Given the description of an element on the screen output the (x, y) to click on. 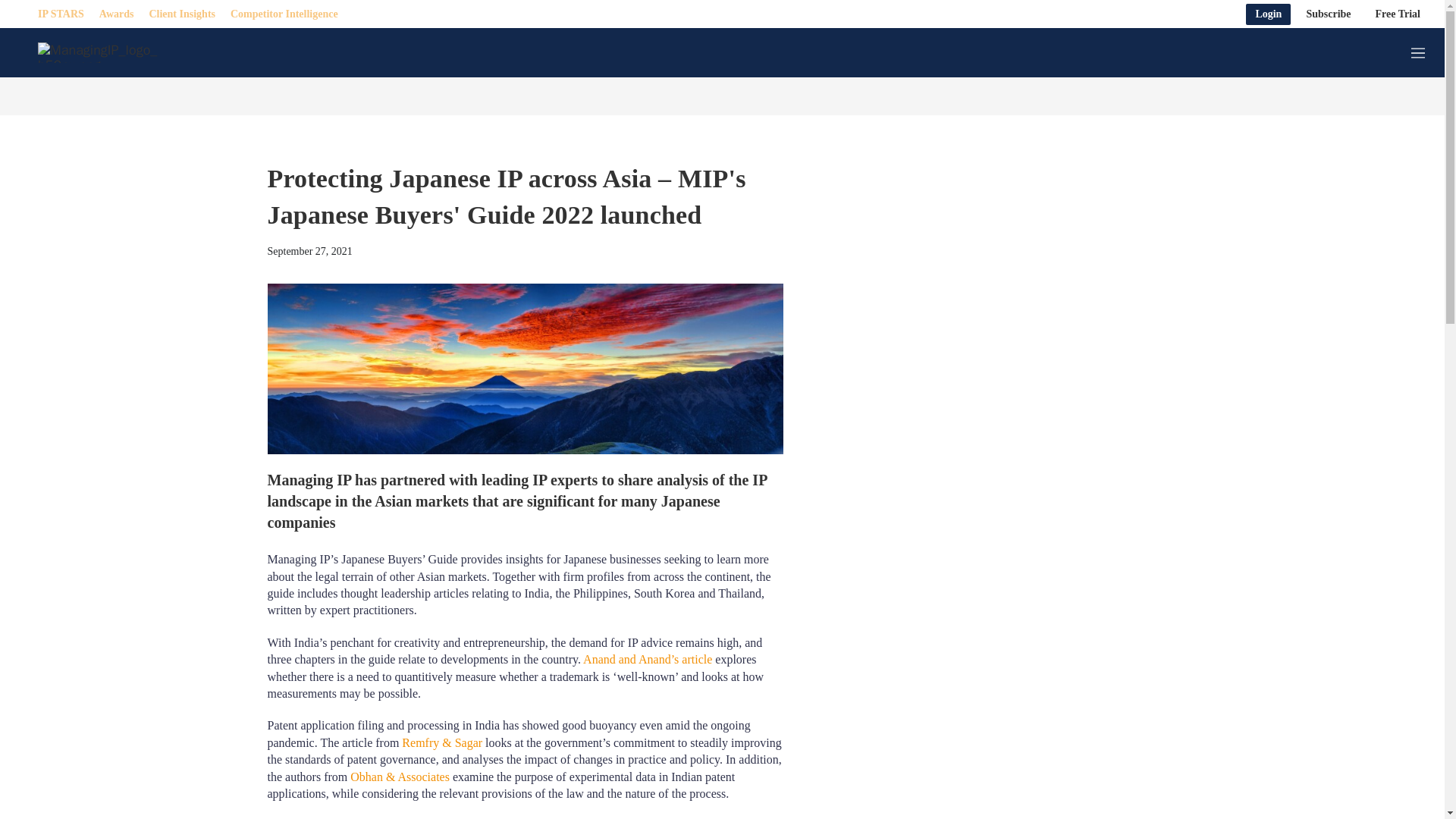
Login (1268, 13)
Awards (116, 13)
Client Insights (181, 13)
Competitor Intelligence (283, 13)
Free Trial (1398, 13)
IP STARS (60, 13)
Subscribe (1328, 13)
